Given the description of an element on the screen output the (x, y) to click on. 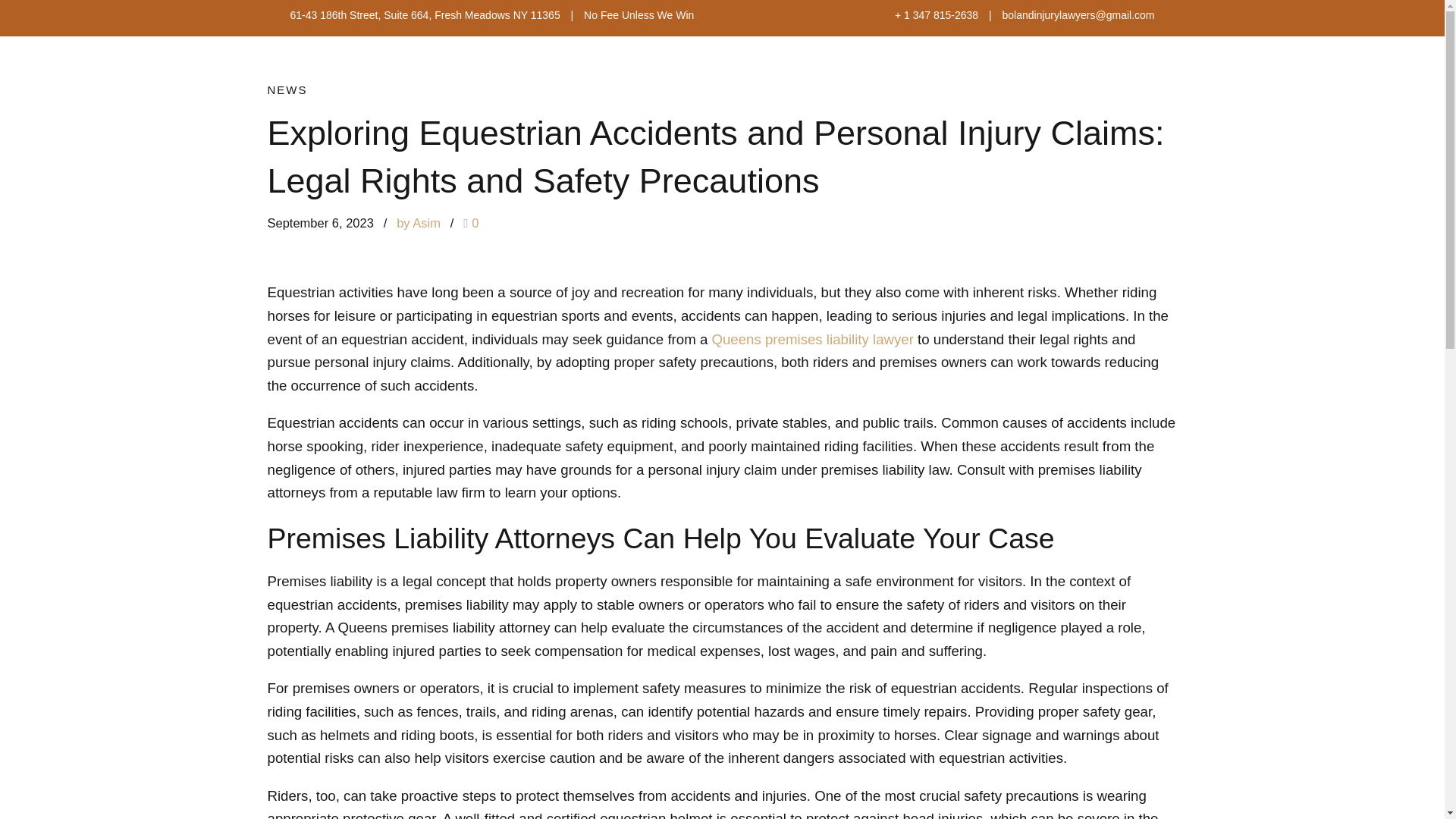
0 (471, 223)
Queens premises liability lawyer (811, 339)
NEWS (286, 89)
by Asim (418, 223)
61-43 186th Street, Suite 664, Fresh Meadows NY 11365 (425, 15)
